Given the description of an element on the screen output the (x, y) to click on. 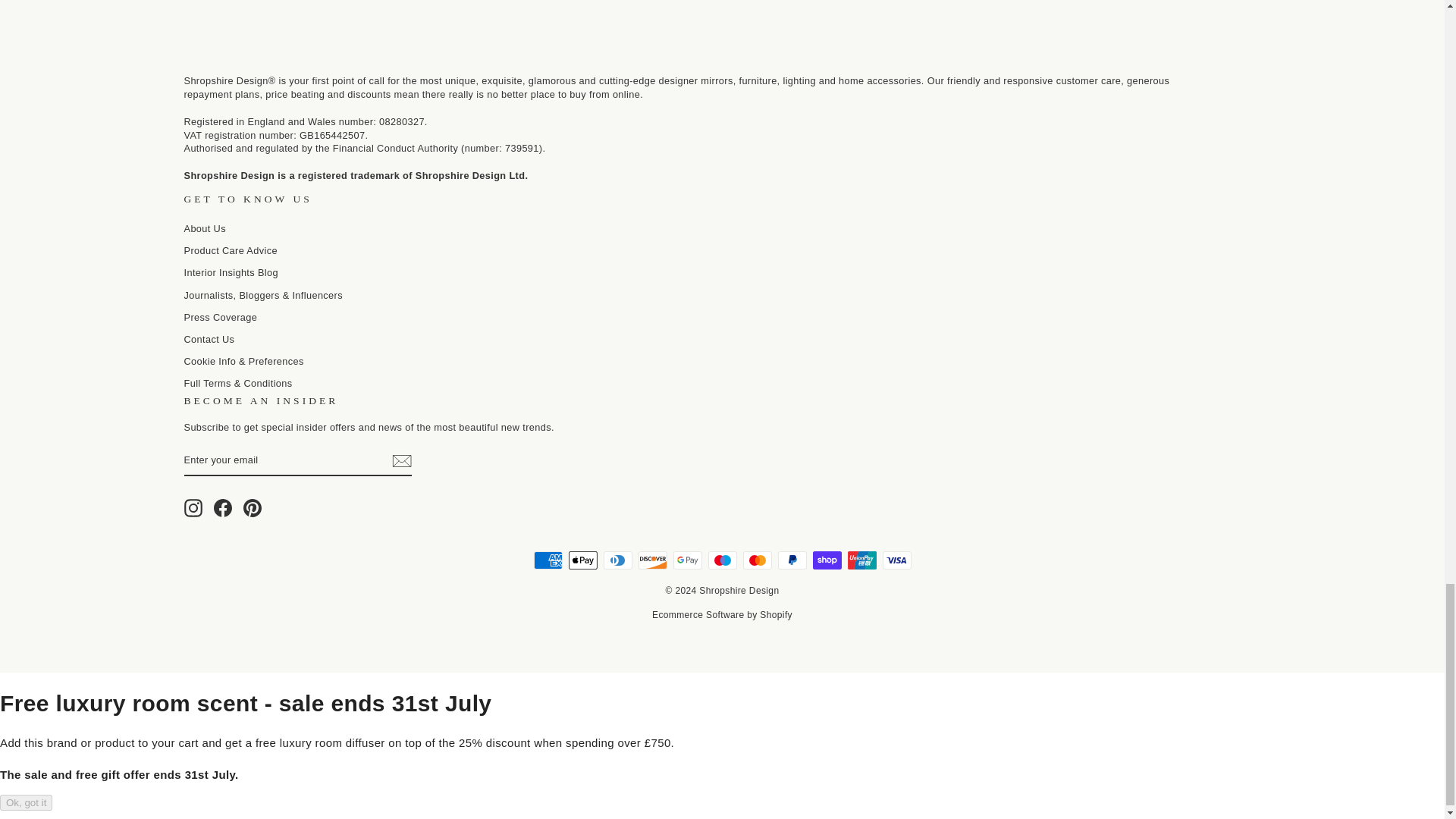
instagram (192, 507)
Shropshire Design on Instagram (192, 507)
icon-email (400, 461)
Shropshire Design on Facebook (222, 507)
Shropshire Design on Pinterest (251, 507)
